Given the description of an element on the screen output the (x, y) to click on. 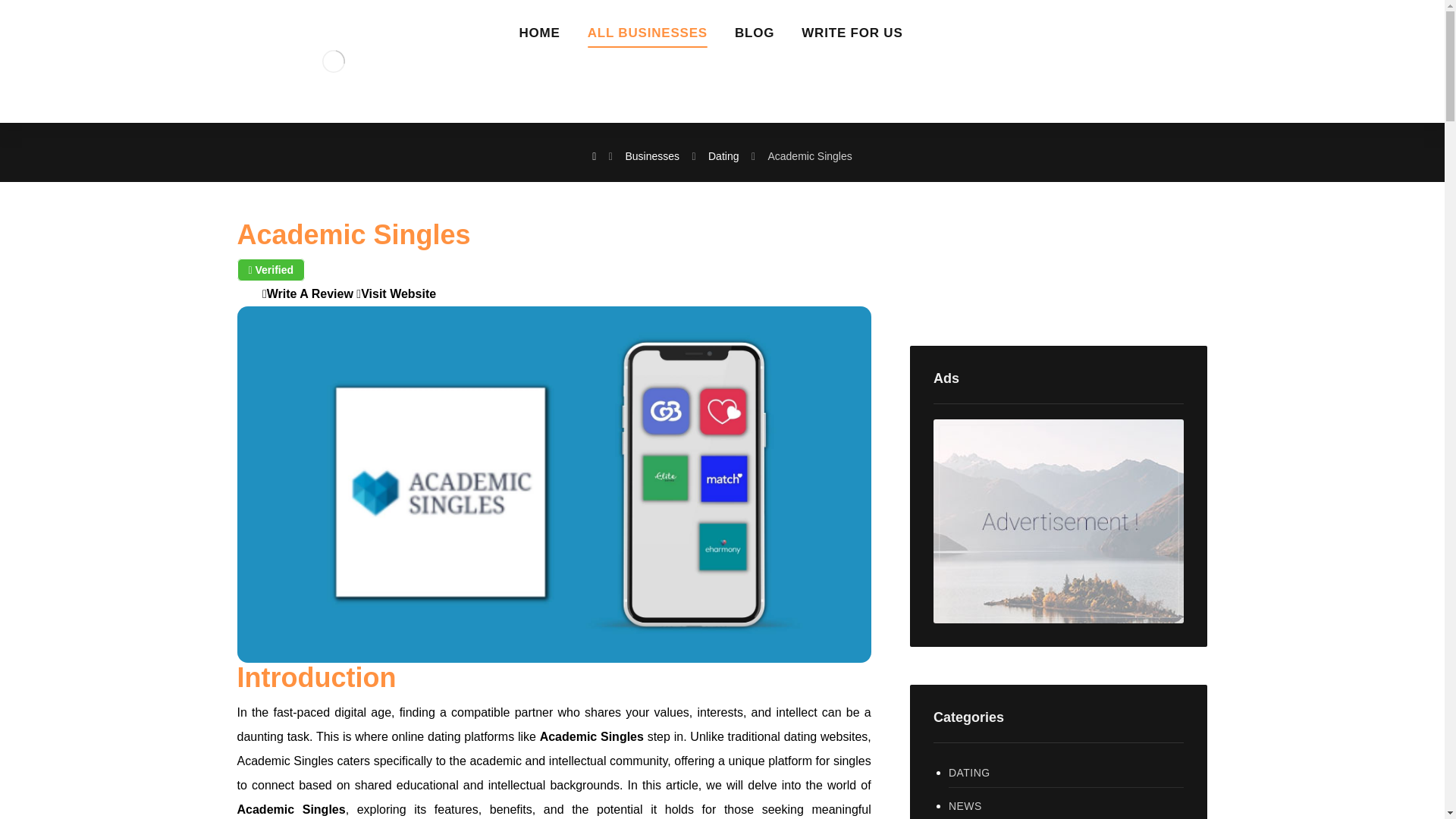
Visit Website (395, 293)
Academic Singles (809, 155)
Write A Review (307, 293)
Search (1156, 263)
Verified (269, 269)
Best Dating Review Website (332, 60)
NEWS (1066, 805)
DATING (1066, 772)
Businesses (651, 155)
BLOG (754, 38)
Dating (722, 155)
Academic Singles (591, 736)
ALL BUSINESSES (647, 38)
WRITE FOR US (852, 38)
HOME (538, 38)
